Given the description of an element on the screen output the (x, y) to click on. 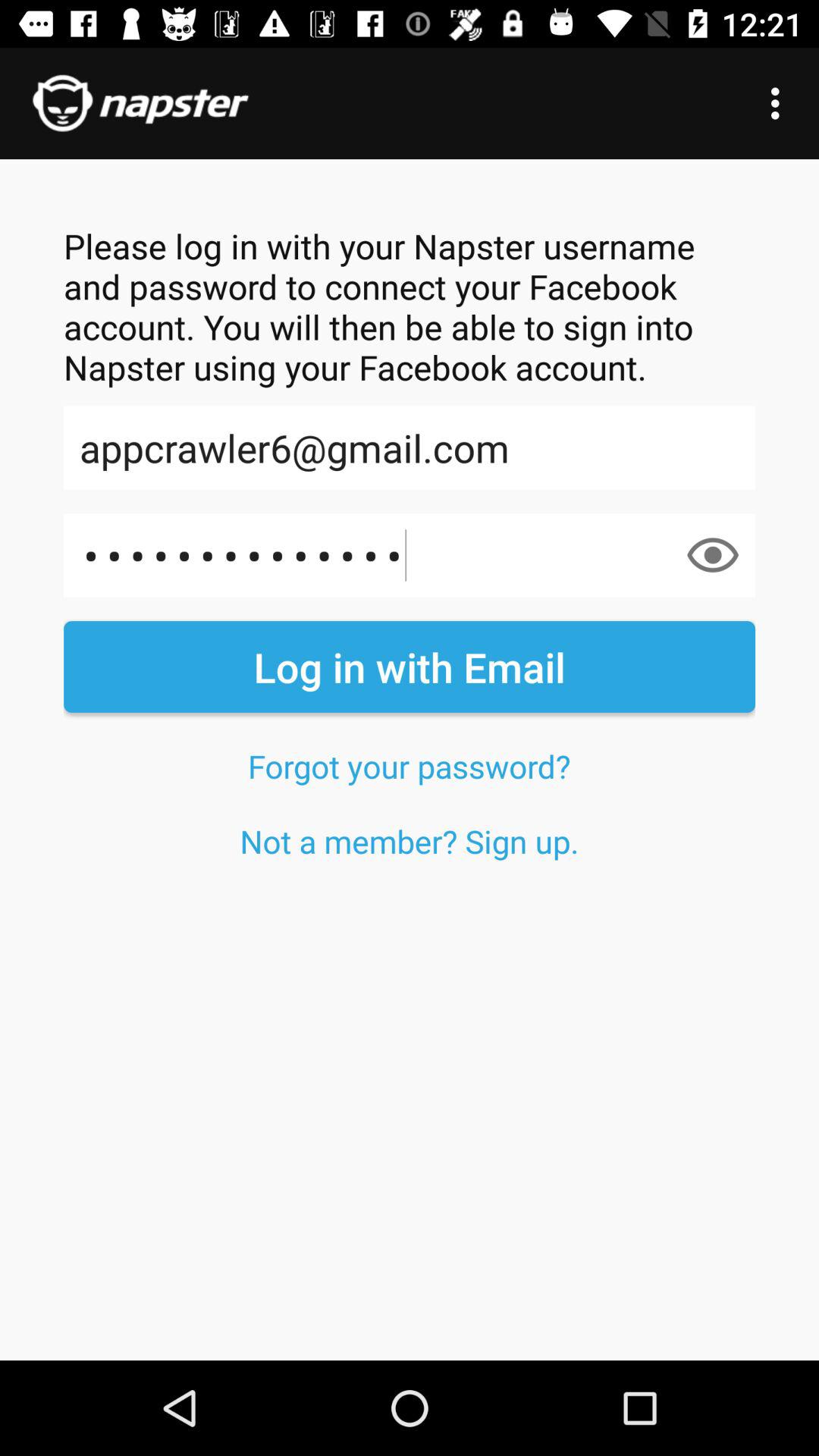
open item at the top right corner (779, 103)
